Given the description of an element on the screen output the (x, y) to click on. 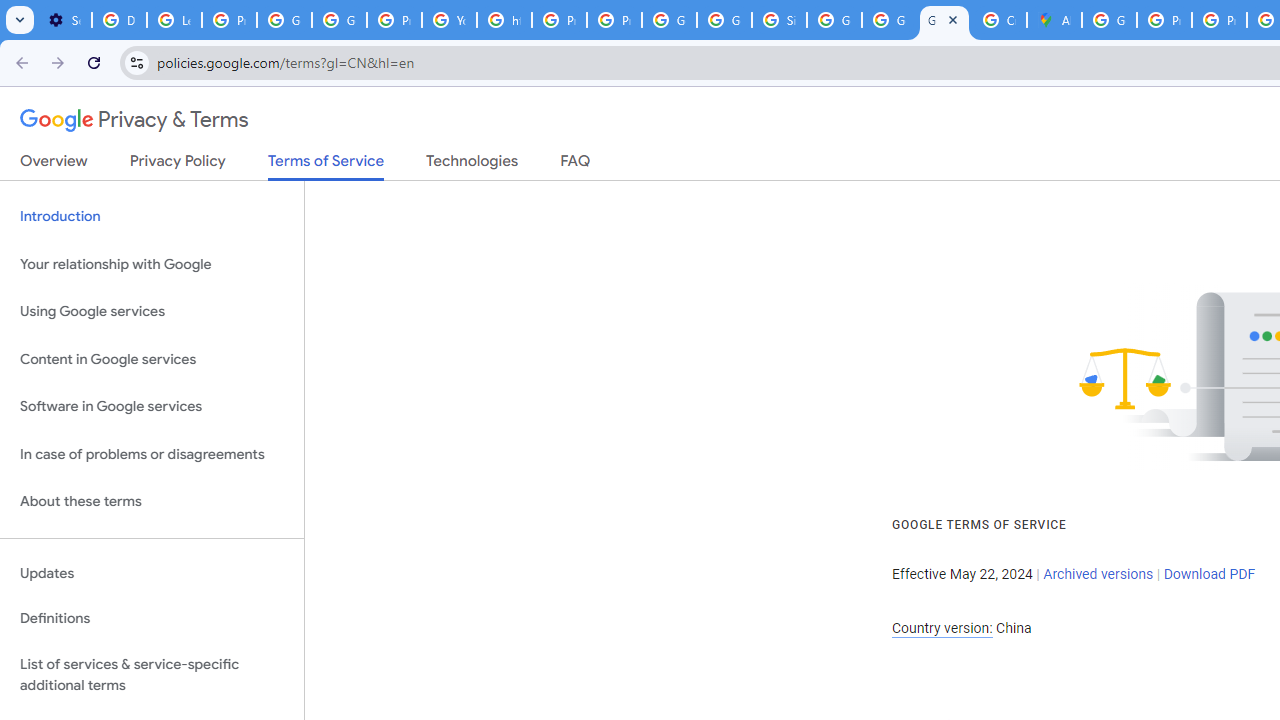
In case of problems or disagreements (152, 453)
Using Google services (152, 312)
Create your Google Account (998, 20)
Download PDF (1209, 574)
YouTube (449, 20)
